Given the description of an element on the screen output the (x, y) to click on. 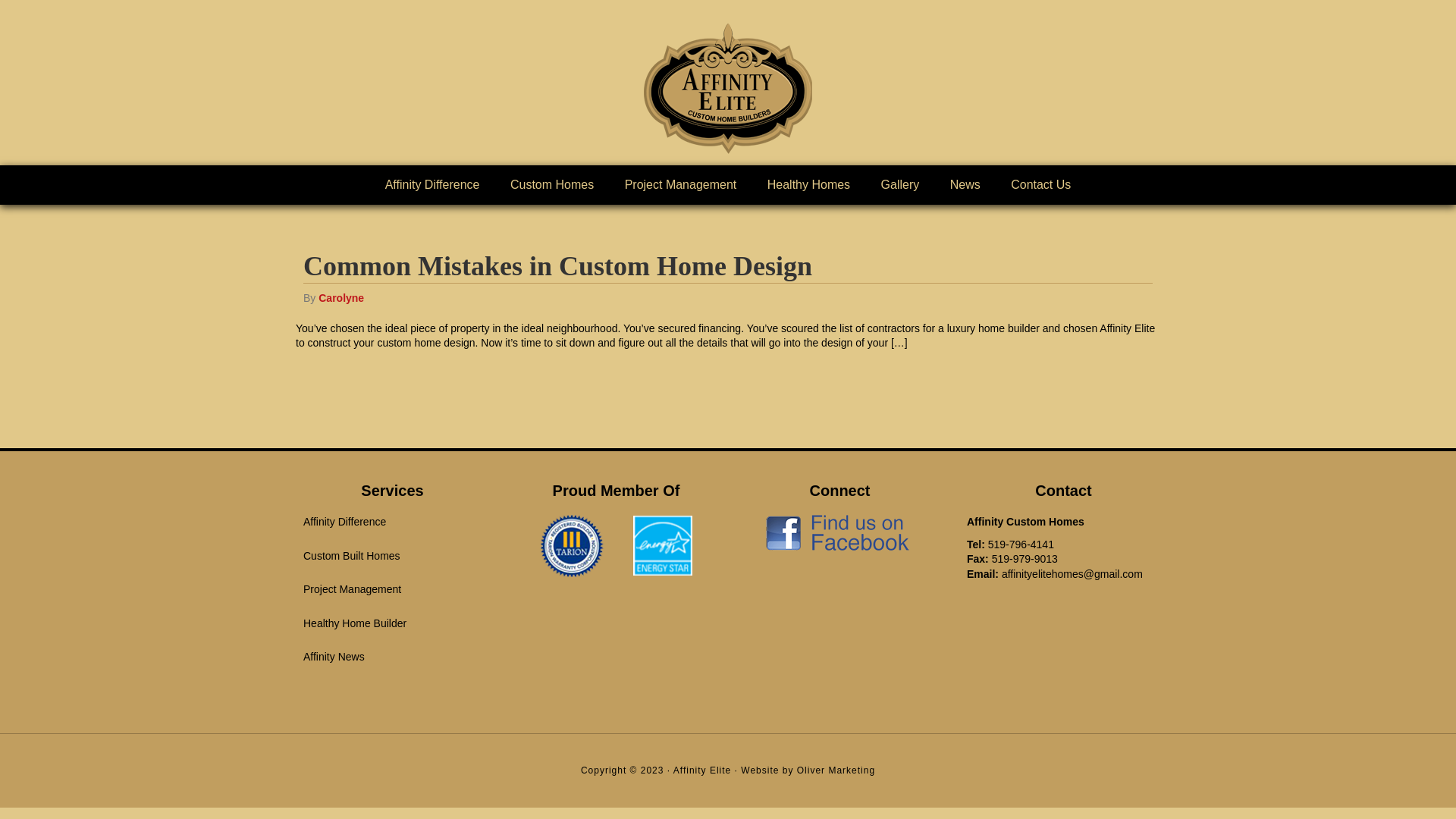
Project Management Element type: text (351, 588)
Healthy Home Builder Element type: text (354, 623)
Affinity Difference Element type: text (432, 184)
Contact Us Element type: text (1040, 184)
Common Mistakes in Custom Home Design Element type: text (557, 266)
Custom Built Homes Element type: text (351, 555)
Affinity Elite Element type: text (727, 88)
Gallery Element type: text (900, 184)
Custom Homes Element type: text (551, 184)
Carolyne Element type: text (341, 297)
Affinity Difference Element type: text (344, 521)
Oliver Marketing Element type: text (836, 770)
Project Management Element type: text (680, 184)
Affinity News Element type: text (333, 656)
Healthy Homes Element type: text (808, 184)
News Element type: text (965, 184)
